Given the description of an element on the screen output the (x, y) to click on. 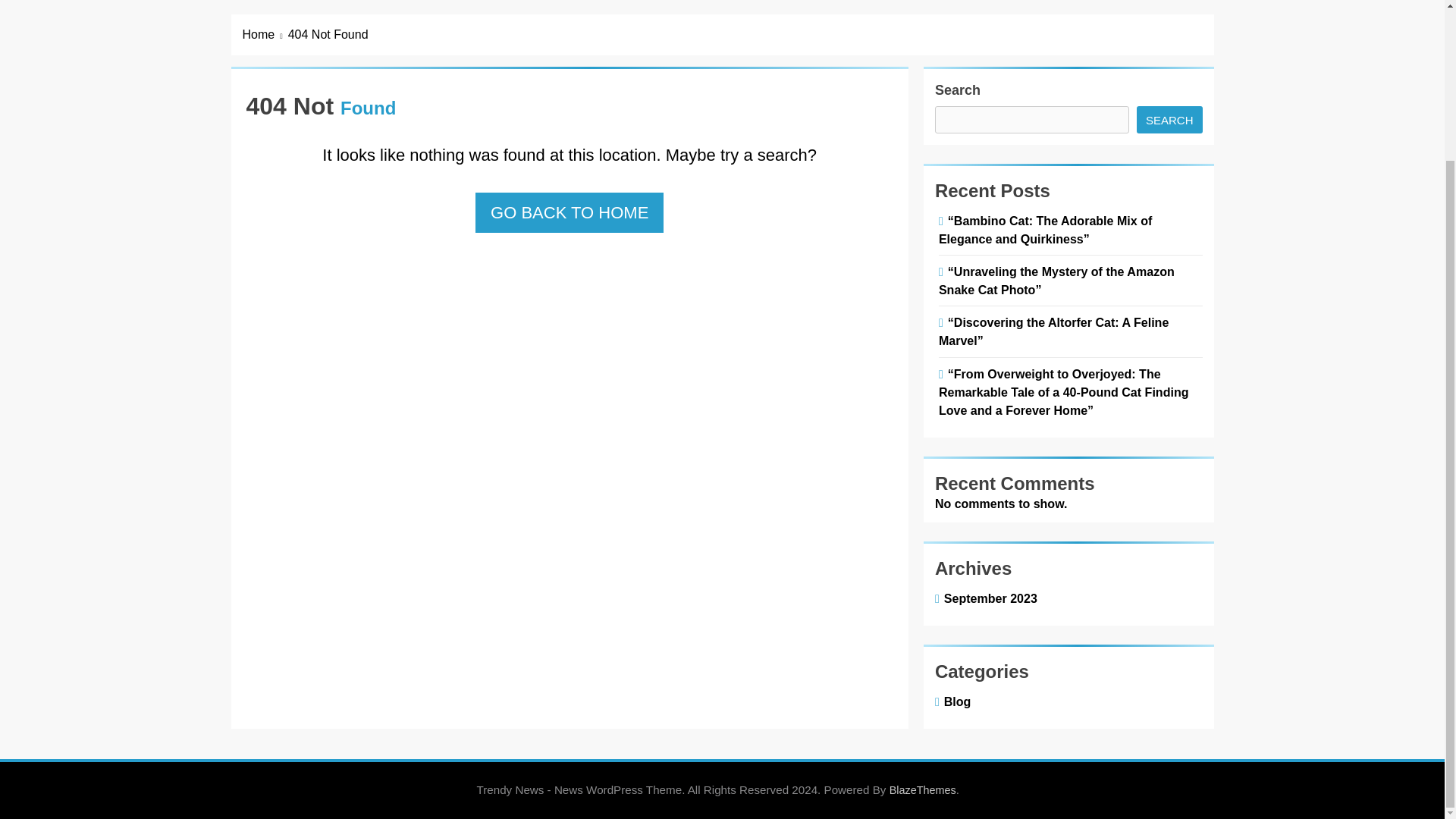
SEARCH (1169, 119)
Home (265, 34)
GO BACK TO HOME (569, 212)
BlazeThemes (922, 789)
September 2023 (987, 598)
Blog (954, 701)
